Given the description of an element on the screen output the (x, y) to click on. 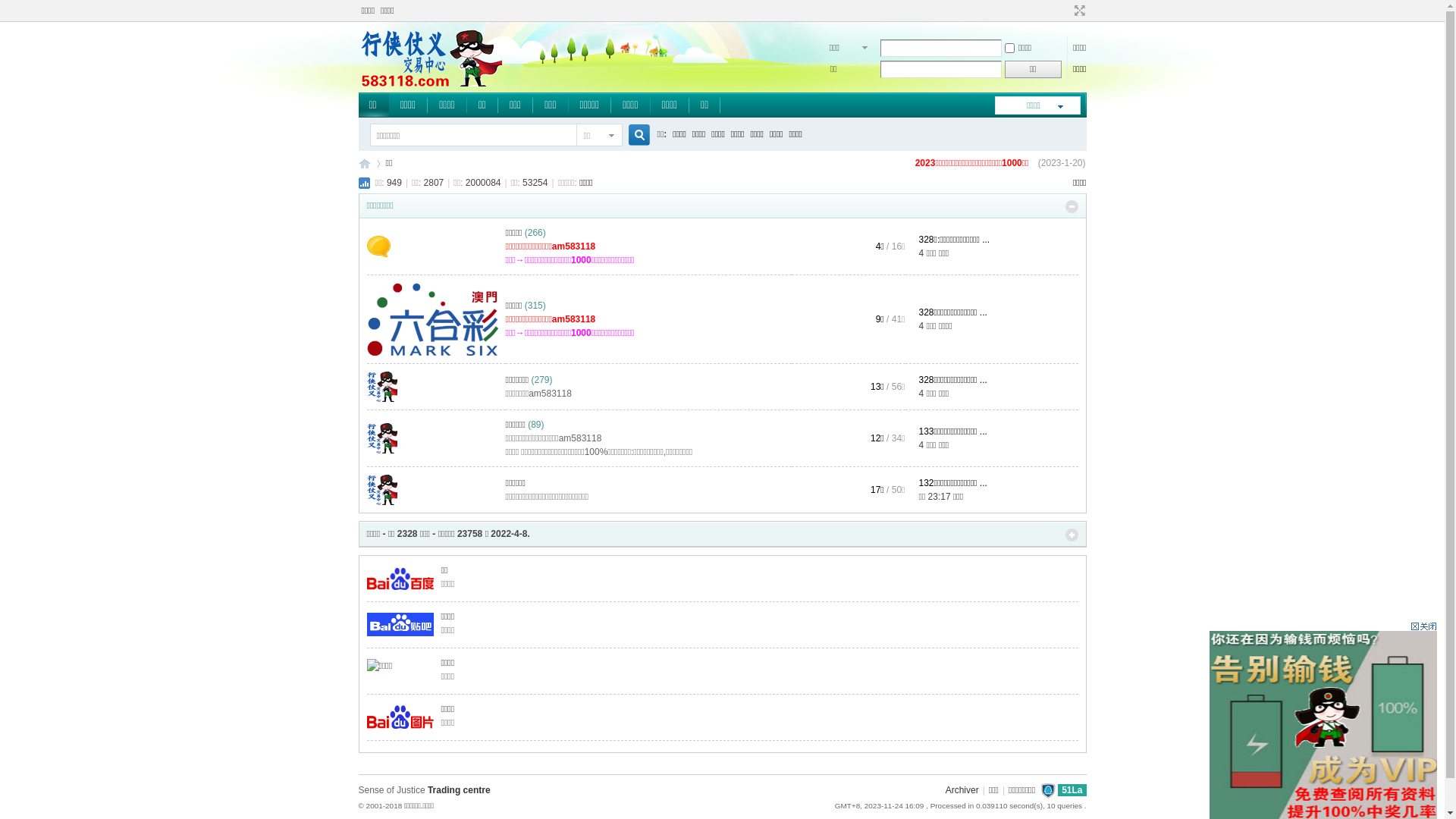
Archiver Element type: text (962, 789)
Trading centre Element type: text (458, 789)
51La Element type: text (1071, 789)
true Element type: text (632, 135)
